Given the description of an element on the screen output the (x, y) to click on. 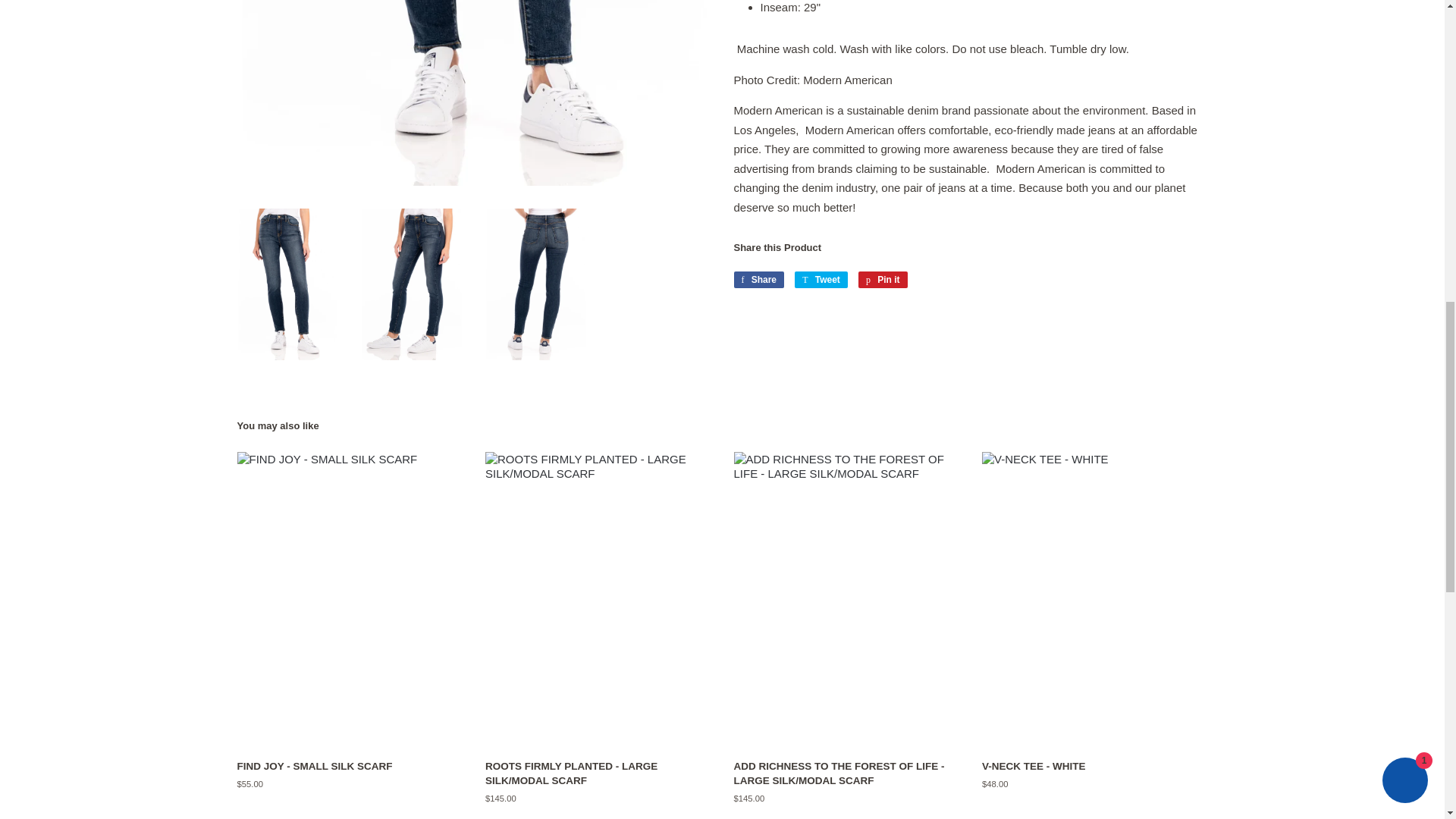
Tweet on Twitter (820, 279)
Share on Facebook (758, 279)
Page 7 (970, 8)
Pin on Pinterest (883, 279)
